Given the description of an element on the screen output the (x, y) to click on. 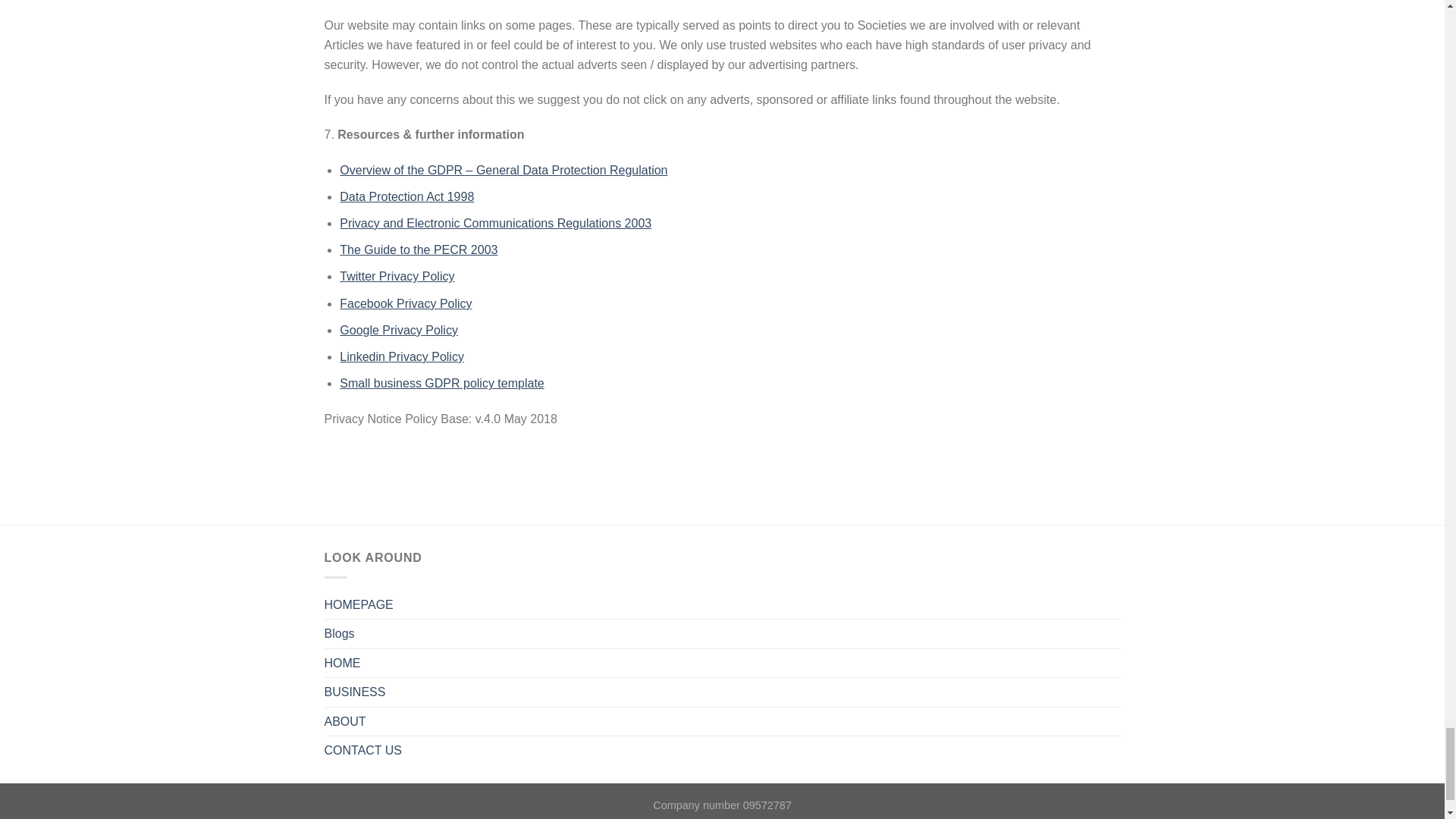
BUSINESS (354, 692)
Privacy and Electronic Communications Regulations 2003 (494, 223)
Blogs (339, 633)
CONTACT US (363, 750)
HOME (342, 663)
ABOUT (345, 721)
Data Protection Act 1998 (406, 196)
Small business GDPR policy template (441, 382)
Twitter Privacy Policy (396, 276)
Google Privacy Policy (398, 329)
